Given the description of an element on the screen output the (x, y) to click on. 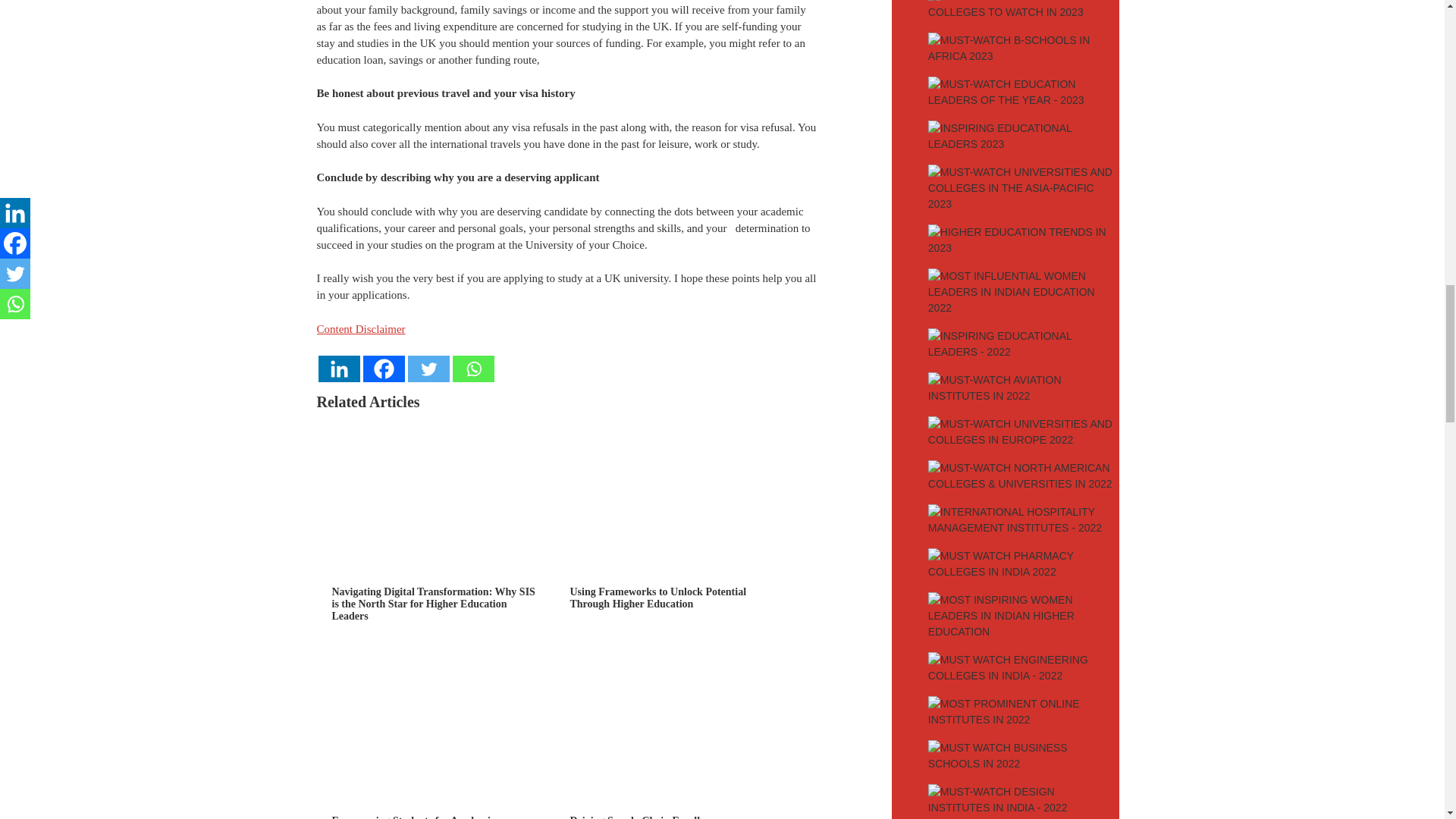
Linkedin (338, 368)
Whatsapp (472, 368)
Facebook (383, 368)
Content Disclaimer (361, 328)
Twitter (428, 368)
